Given the description of an element on the screen output the (x, y) to click on. 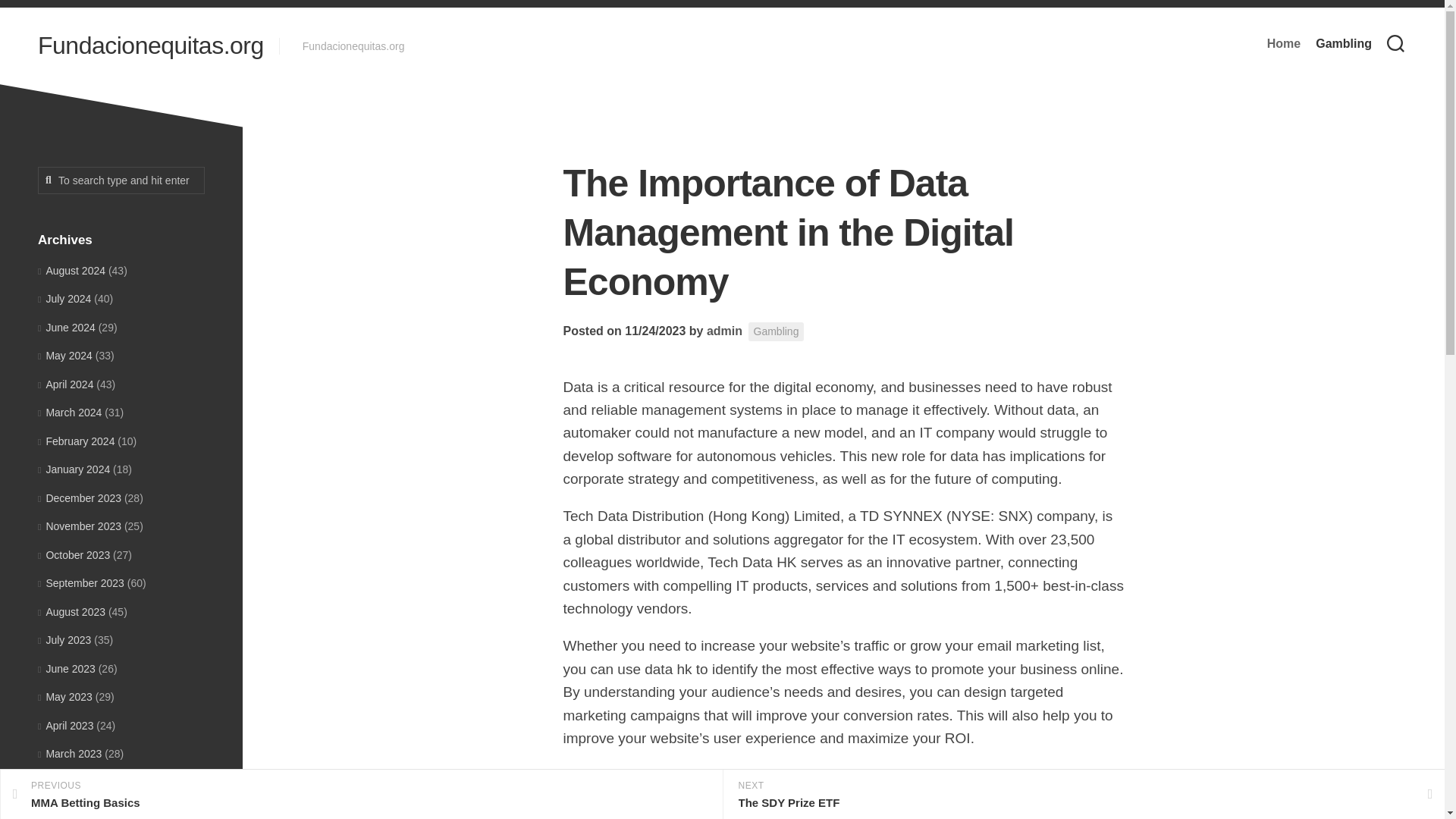
July 2024 (63, 298)
Posts by admin (724, 330)
February 2024 (76, 440)
admin (724, 330)
Gambling (1343, 43)
June 2024 (66, 327)
May 2023 (65, 696)
Home (1283, 43)
October 2023 (73, 554)
January 2023 (73, 810)
